Given the description of an element on the screen output the (x, y) to click on. 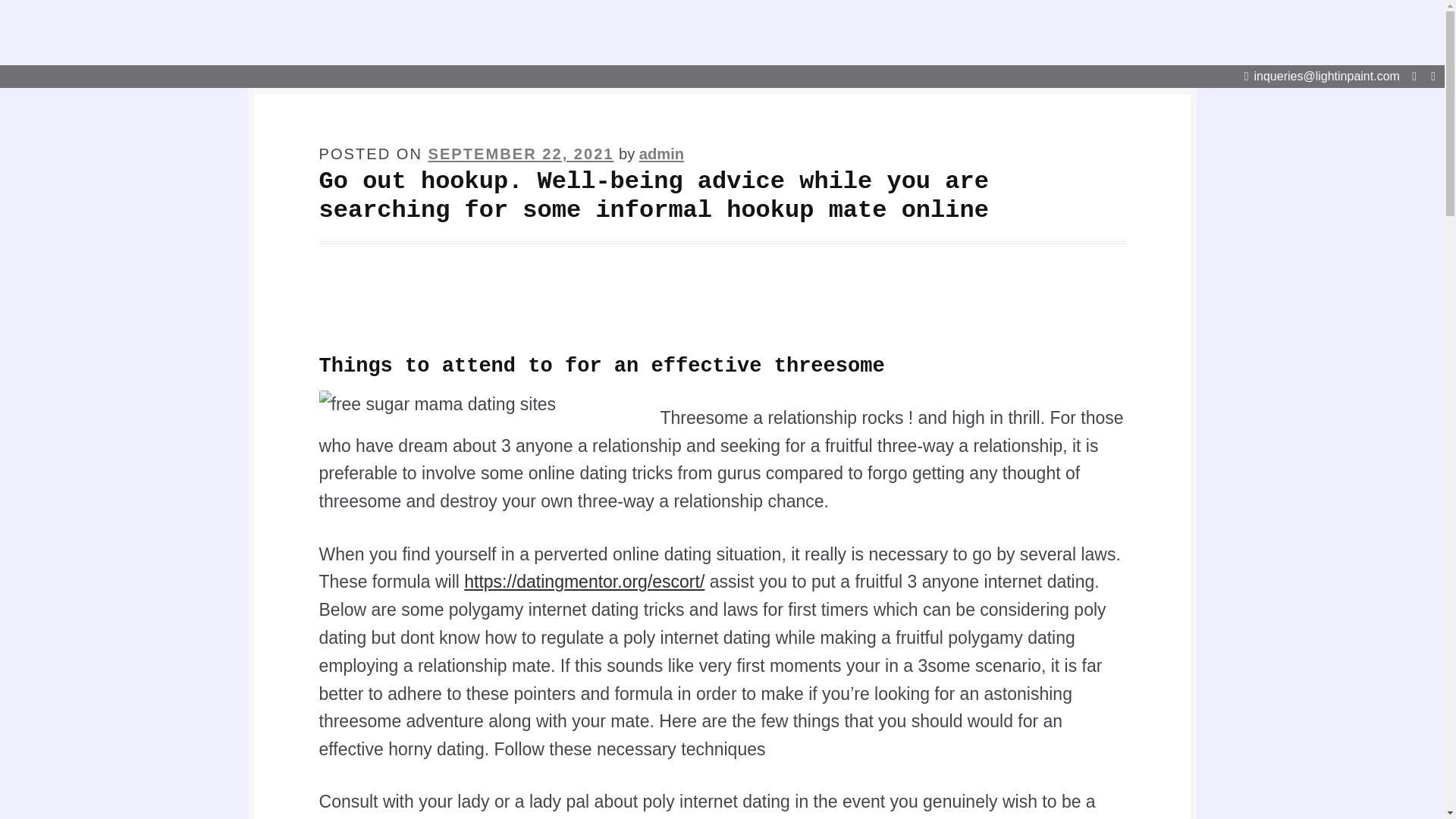
SEPTEMBER 22, 2021 (521, 153)
admin (661, 153)
